Given the description of an element on the screen output the (x, y) to click on. 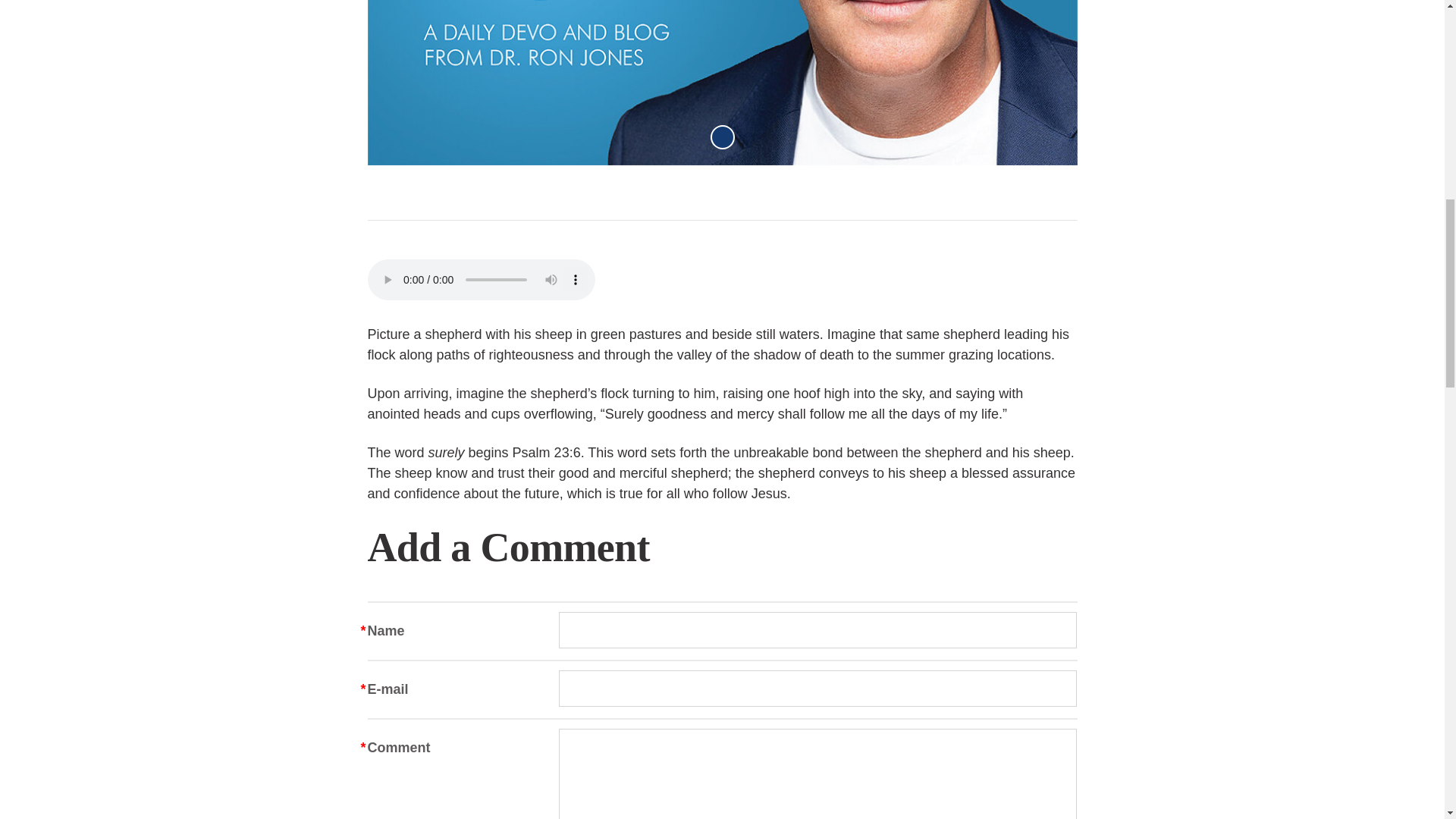
Name (818, 629)
Comment (818, 773)
E-mail (818, 688)
